Given the description of an element on the screen output the (x, y) to click on. 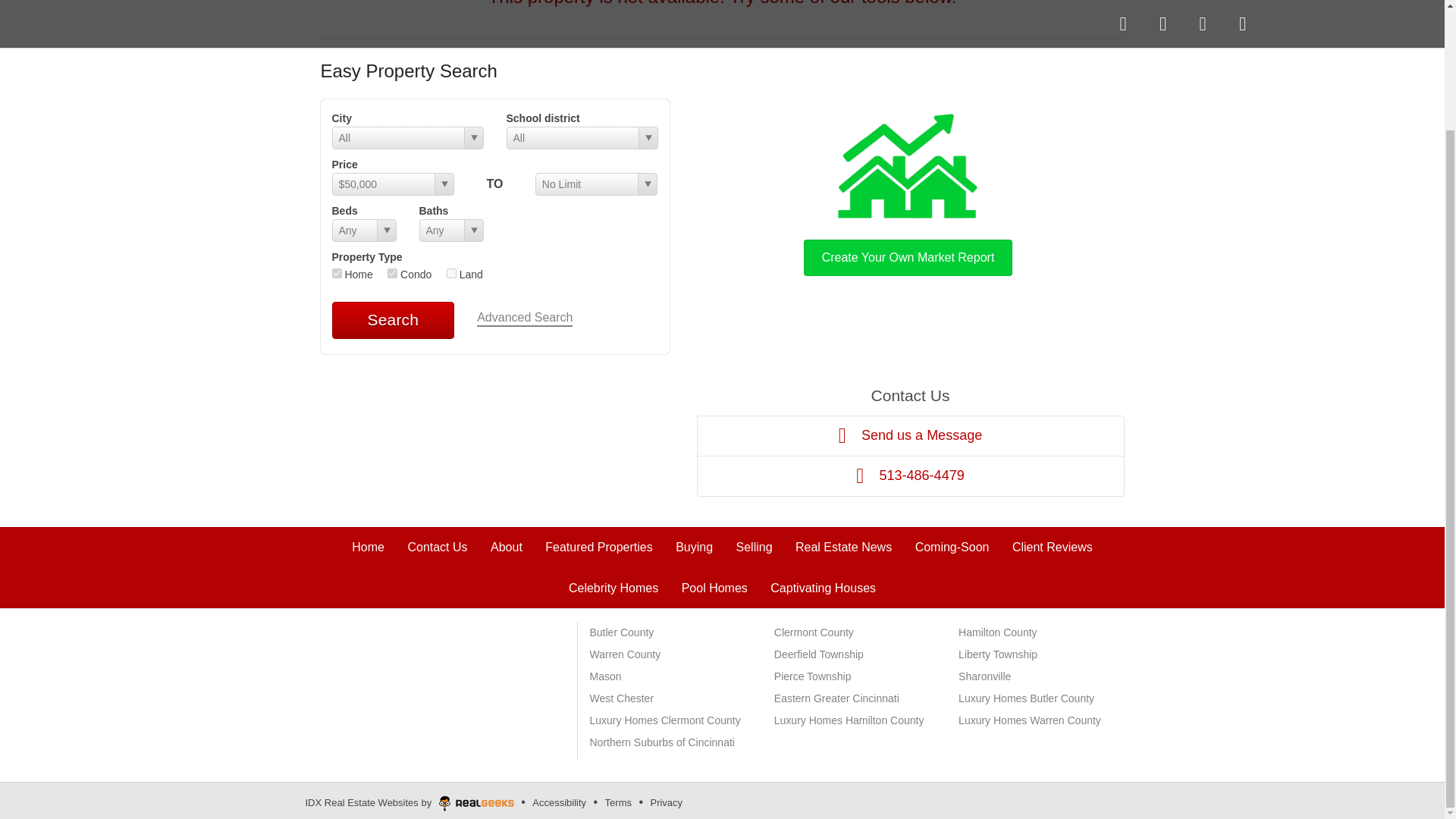
Coming-Soon (952, 546)
Client Reviews (1052, 546)
Advanced Search (524, 318)
con (392, 273)
Pool Homes (714, 587)
Celebrity Homes (613, 587)
Create Your Own Market Report (907, 191)
Buying (694, 546)
Home (368, 546)
lnd (451, 273)
